Given the description of an element on the screen output the (x, y) to click on. 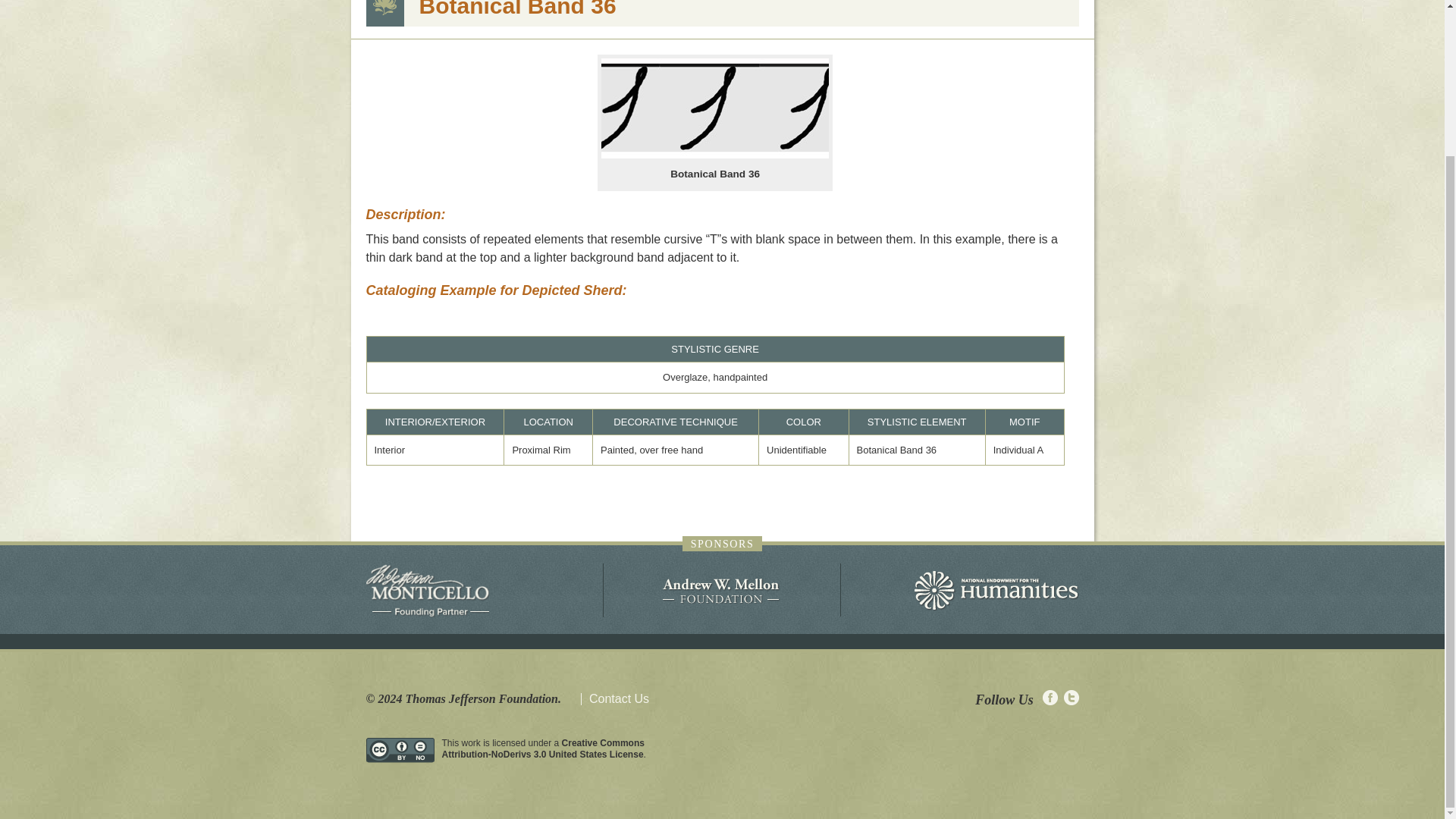
Field Quarter Cabin 3 (649, 124)
Fairfield Plantation (649, 302)
Curriboo 245 (460, 348)
South Cabin (649, 212)
Field Quarter Cabin 2 (649, 109)
Mansion Backyard Yard Cabin (649, 242)
Chapline Place (460, 144)
Field Quarter Cabin 1 (649, 93)
Stagville (459, 255)
Middleburg (460, 399)
NAVAIR (460, 195)
Silver Bluff (460, 450)
Mansion Backyard Triplex (649, 227)
Field Quarter Cabin 4 (649, 139)
Navigate North America Using Map (1021, 10)
